Given the description of an element on the screen output the (x, y) to click on. 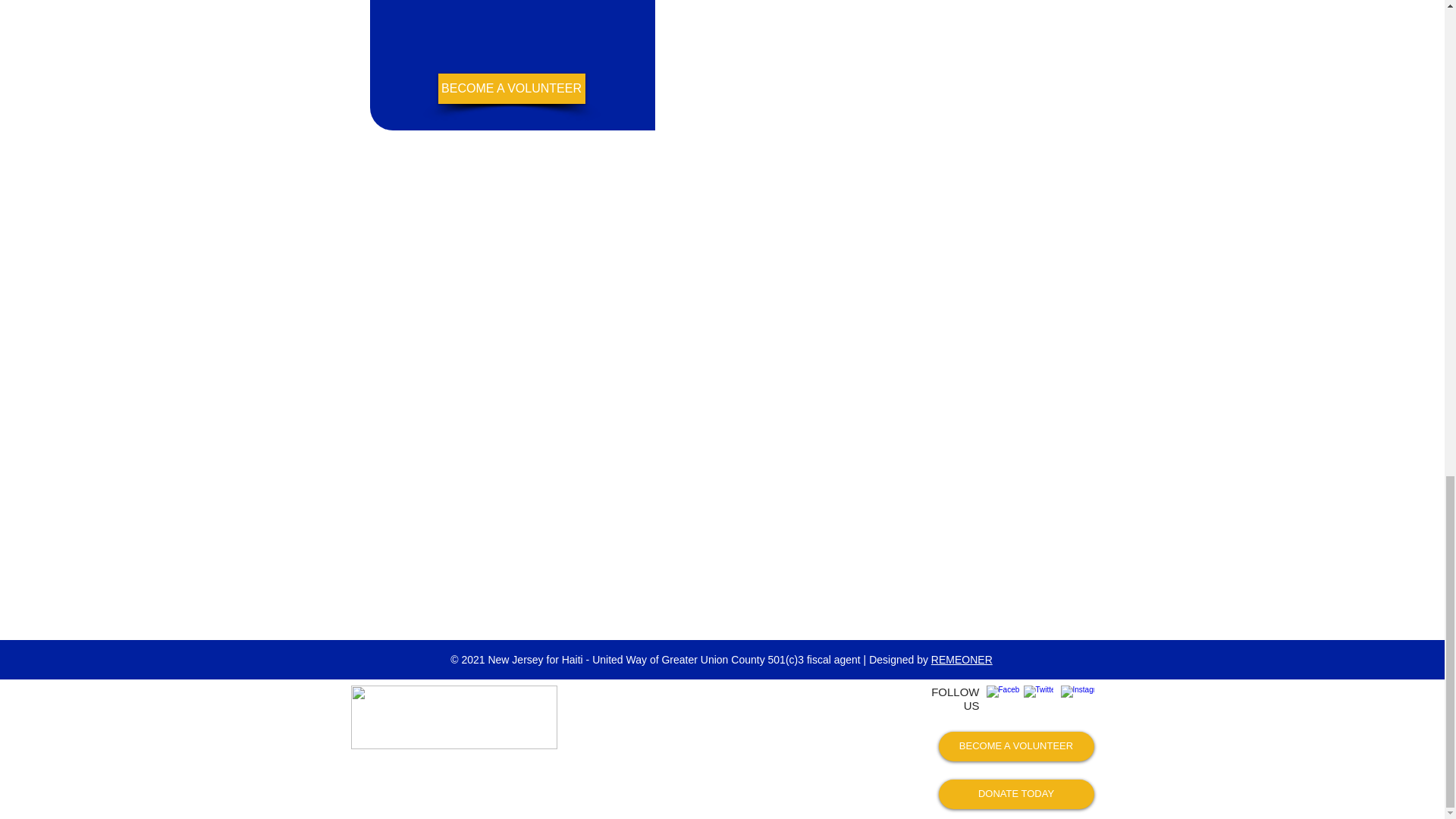
BECOME A VOLUNTEER (1016, 746)
REMEONER (961, 659)
BECOME A VOLUNTEER (511, 88)
DONATE TODAY (1016, 794)
nj4haitimediumlogo.JPG (453, 717)
